Given the description of an element on the screen output the (x, y) to click on. 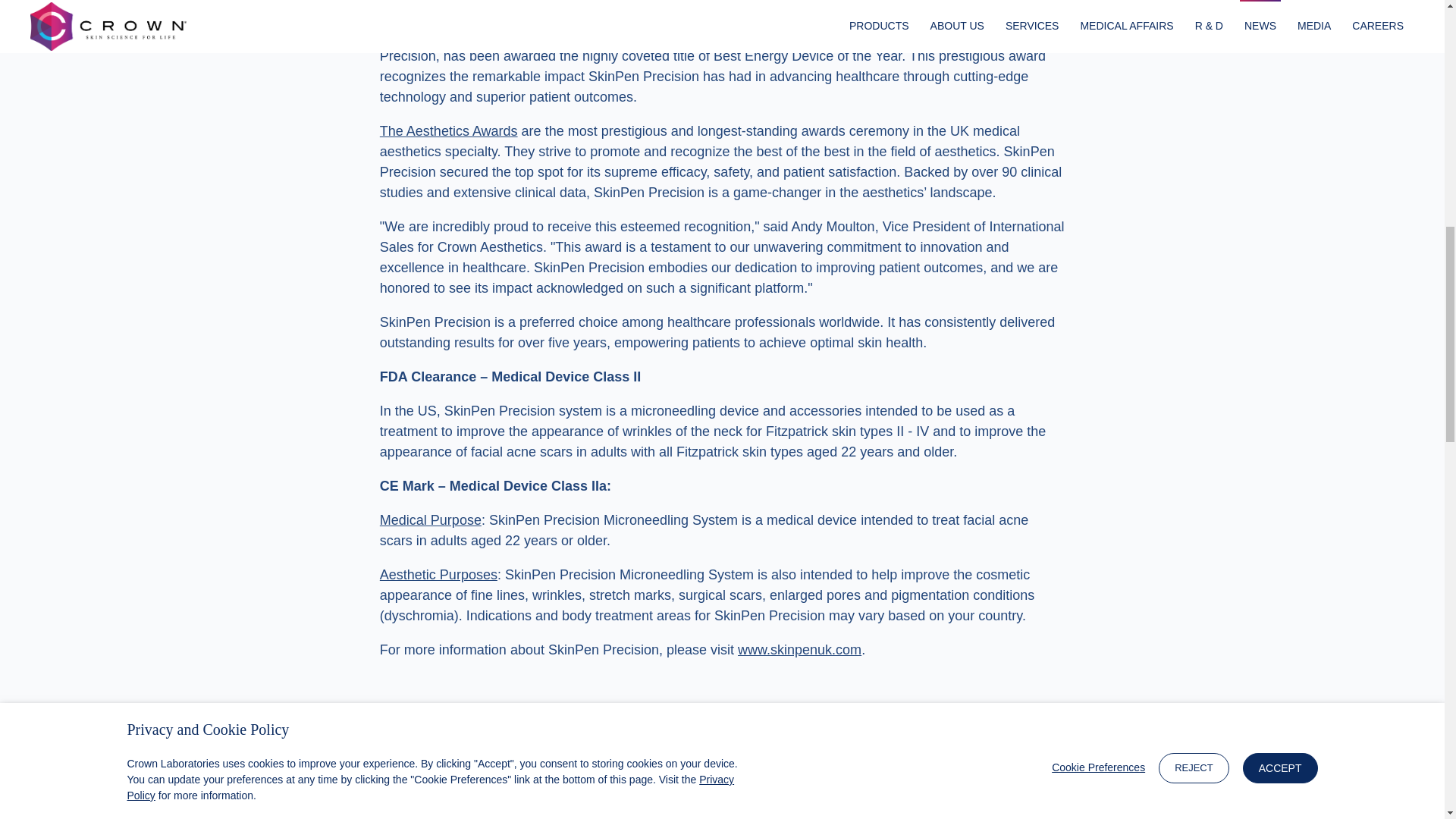
www.skinpenuk.com (799, 648)
The Aesthetics Awards (449, 130)
SkinPen (981, 34)
